Given the description of an element on the screen output the (x, y) to click on. 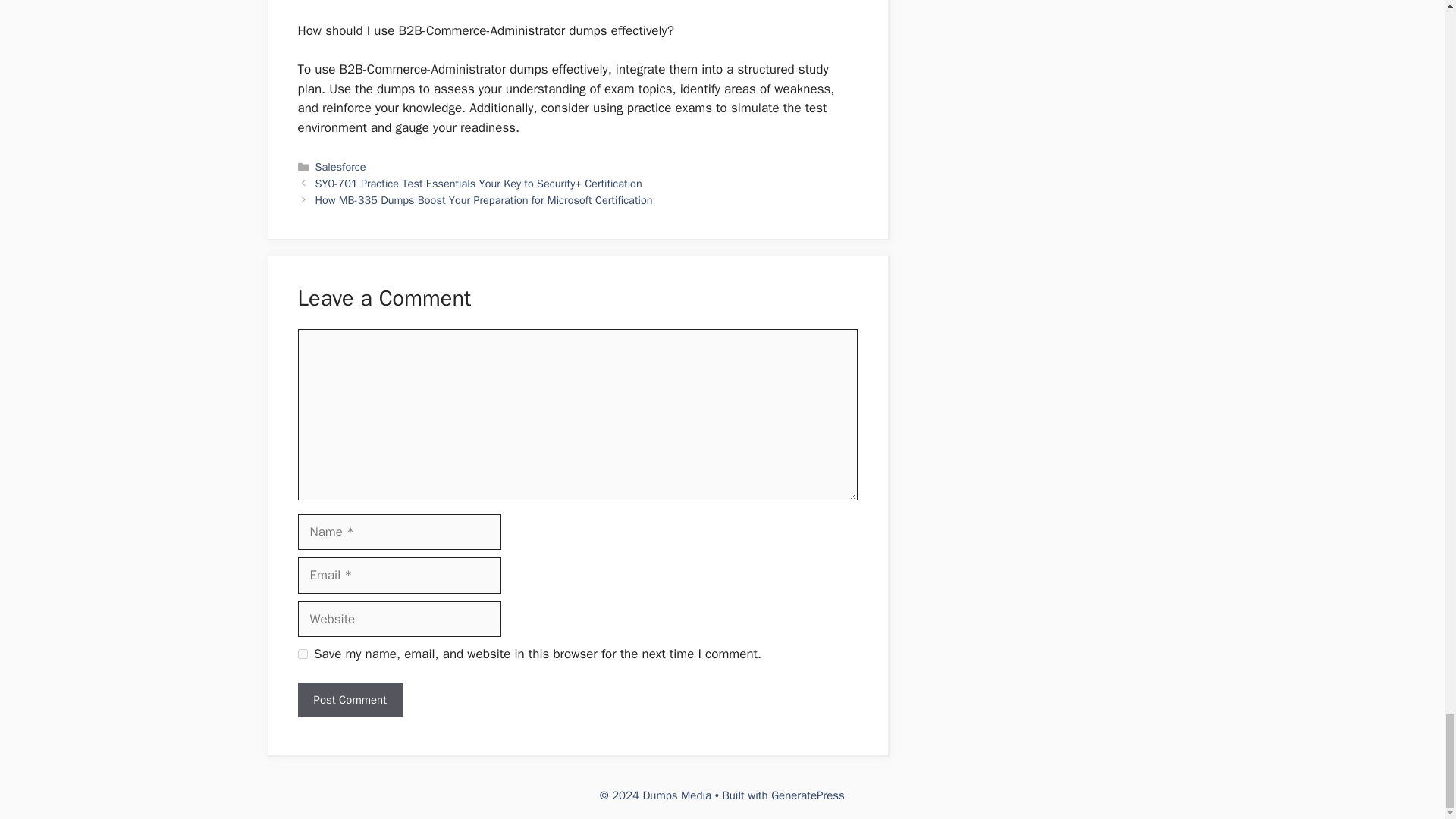
yes (302, 654)
Post Comment (349, 700)
Post Comment (349, 700)
GeneratePress (807, 795)
Salesforce (340, 166)
